Given the description of an element on the screen output the (x, y) to click on. 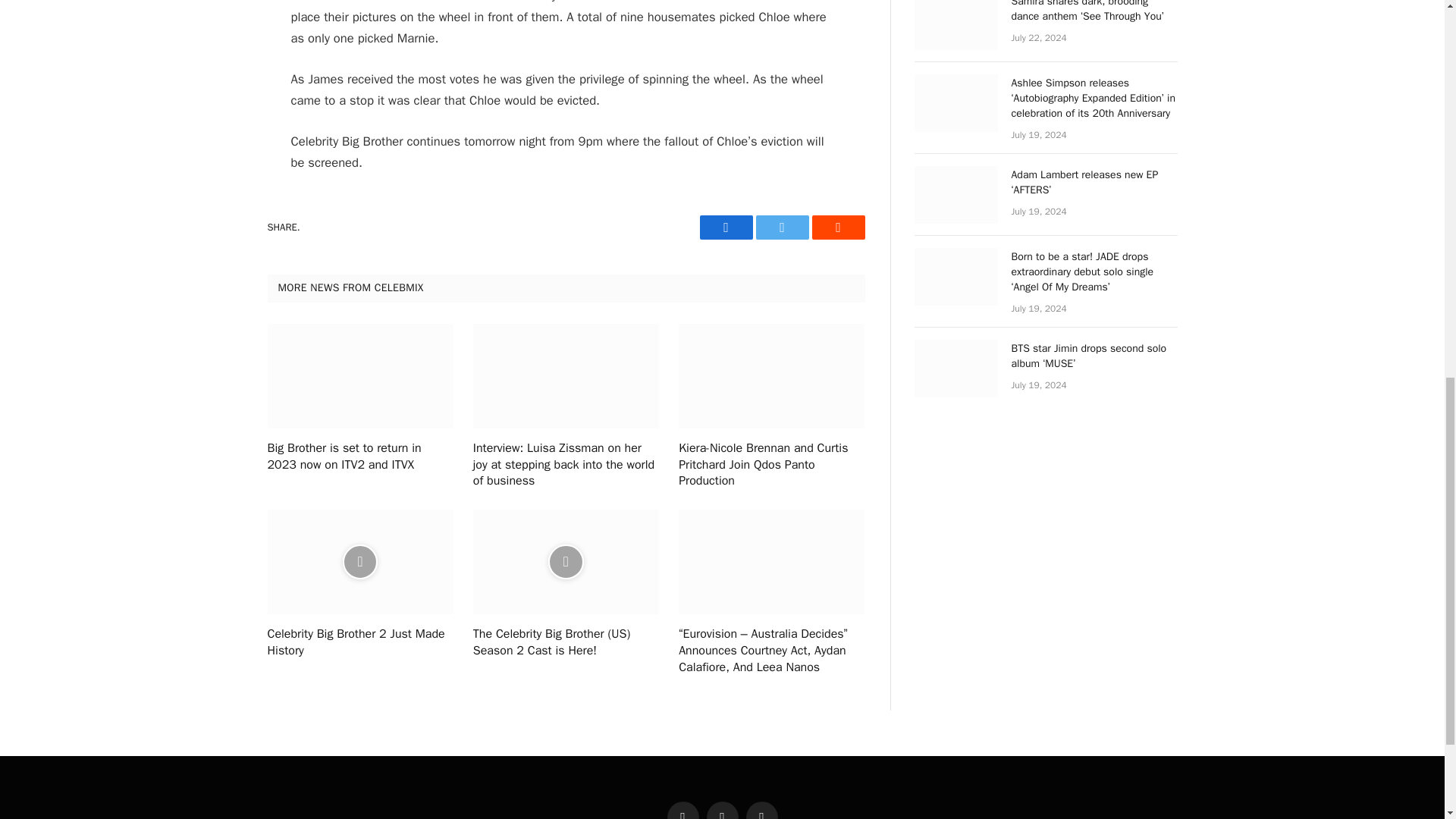
Share on Facebook (725, 227)
Big Brother is set to return in 2023 now on ITV2 and ITVX (359, 457)
Reddit (837, 227)
Celebrity Big Brother 2 Just Made History (359, 643)
Twitter (781, 227)
Facebook (725, 227)
